Given the description of an element on the screen output the (x, y) to click on. 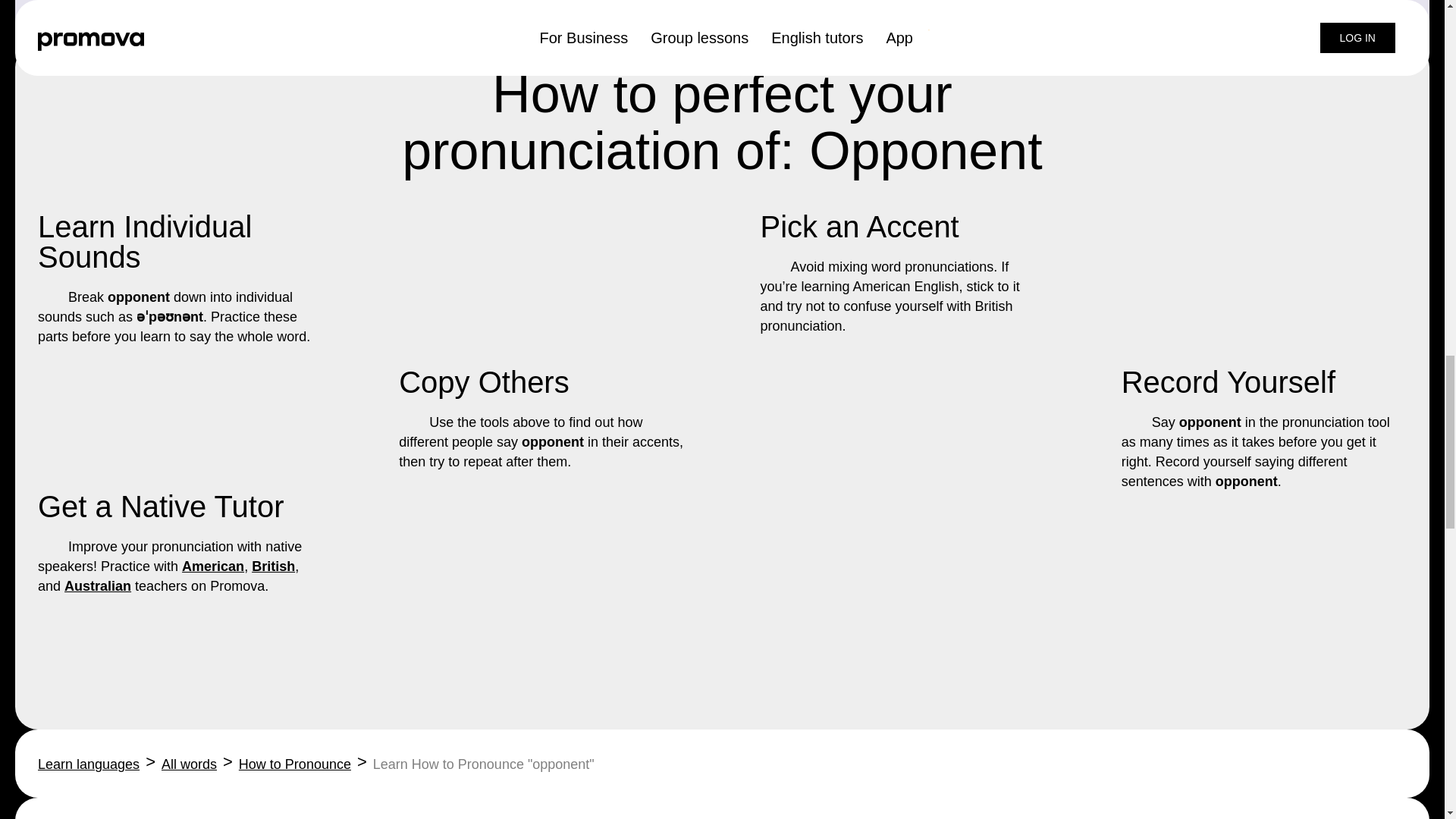
YouTube video player (1163, 11)
Learn How to Pronounce "opponent" (483, 764)
Australian (97, 585)
All words (188, 764)
Learn languages (88, 764)
British (273, 566)
How to Pronounce (294, 764)
American (213, 566)
